Given the description of an element on the screen output the (x, y) to click on. 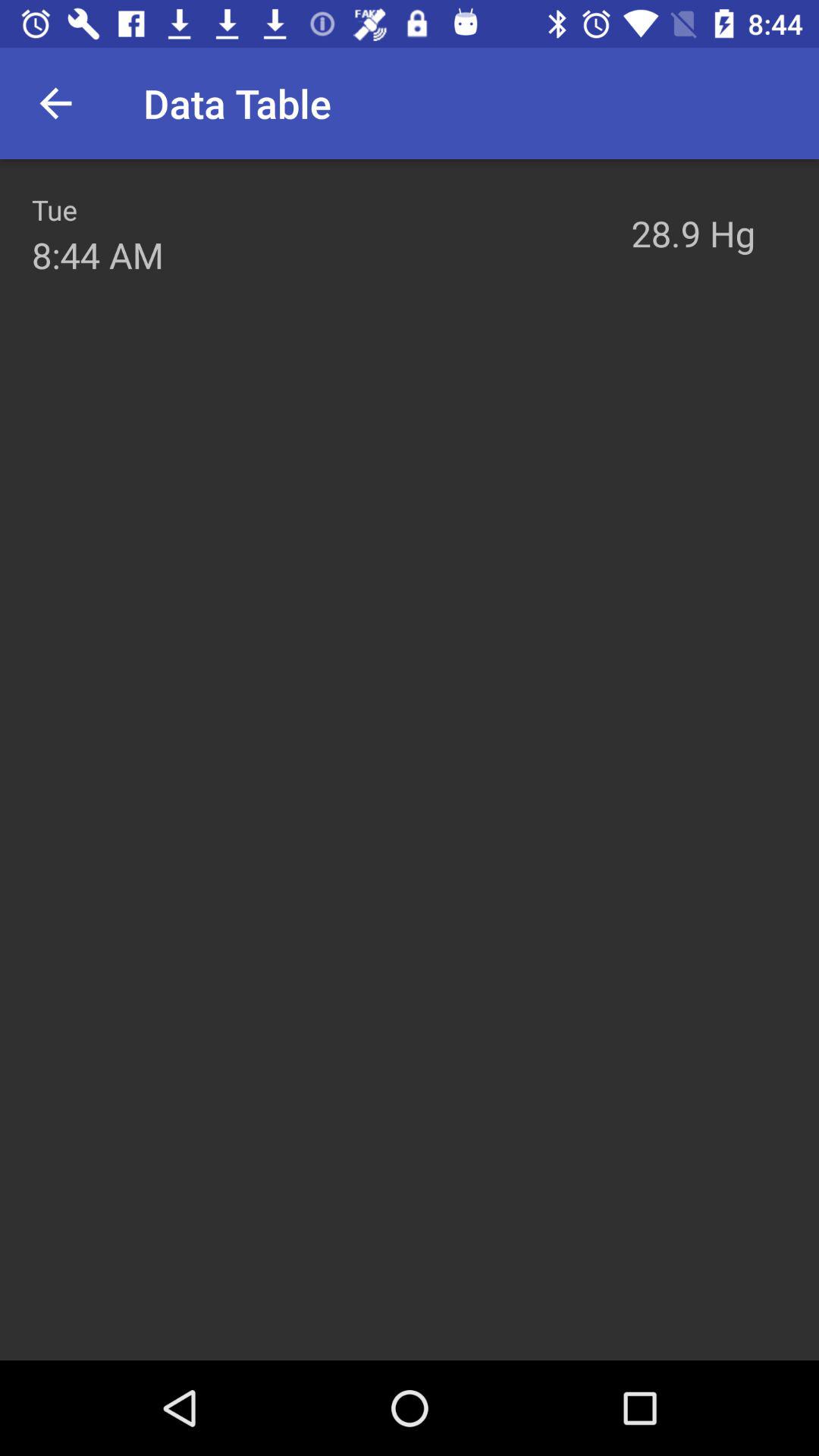
open the icon to the left of data table item (55, 103)
